Given the description of an element on the screen output the (x, y) to click on. 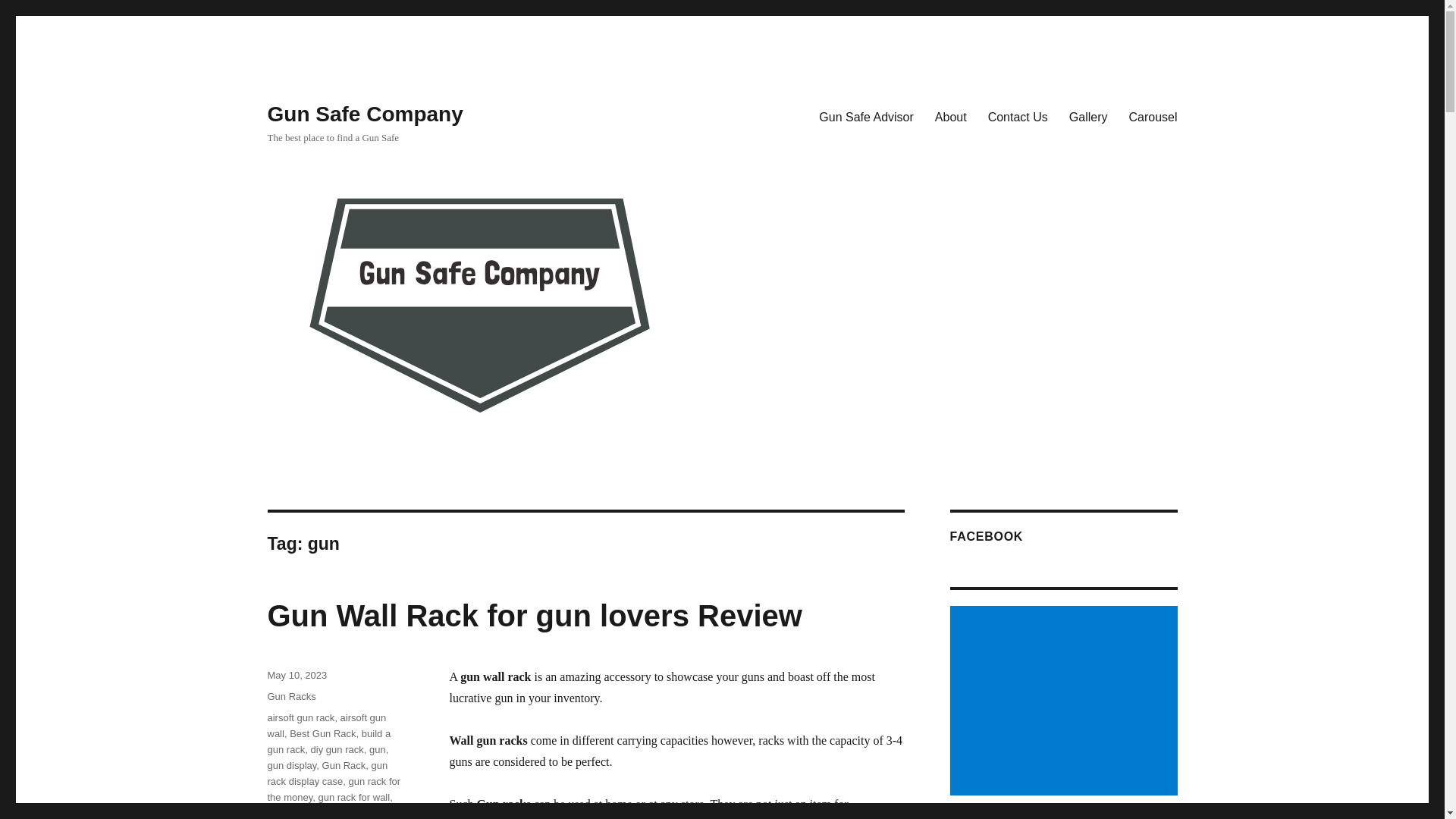
airsoft gun rack (300, 717)
gun display (290, 765)
Carousel (1153, 116)
Gun Rack (343, 765)
build a gun rack (328, 741)
Gun Wall Rack for gun lovers Review (534, 615)
gun (377, 749)
Best Gun Rack (322, 733)
airsoft gun wall (325, 725)
Gallery (1088, 116)
Gun Safe Company (364, 114)
gun rack gun store (307, 813)
Gun Safe Advisor (866, 116)
gun rack display case (326, 773)
May 10, 2023 (296, 674)
